Given the description of an element on the screen output the (x, y) to click on. 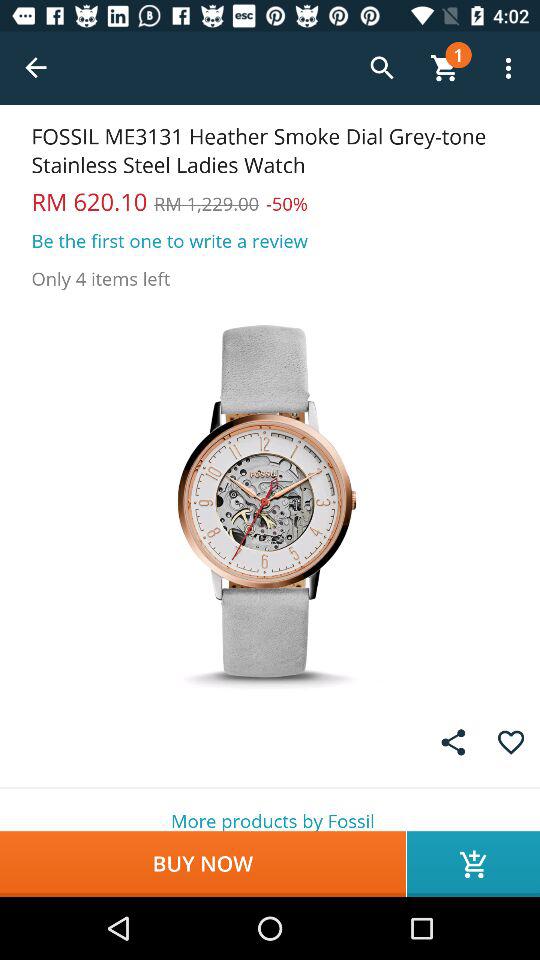
sharing options (453, 742)
